Given the description of an element on the screen output the (x, y) to click on. 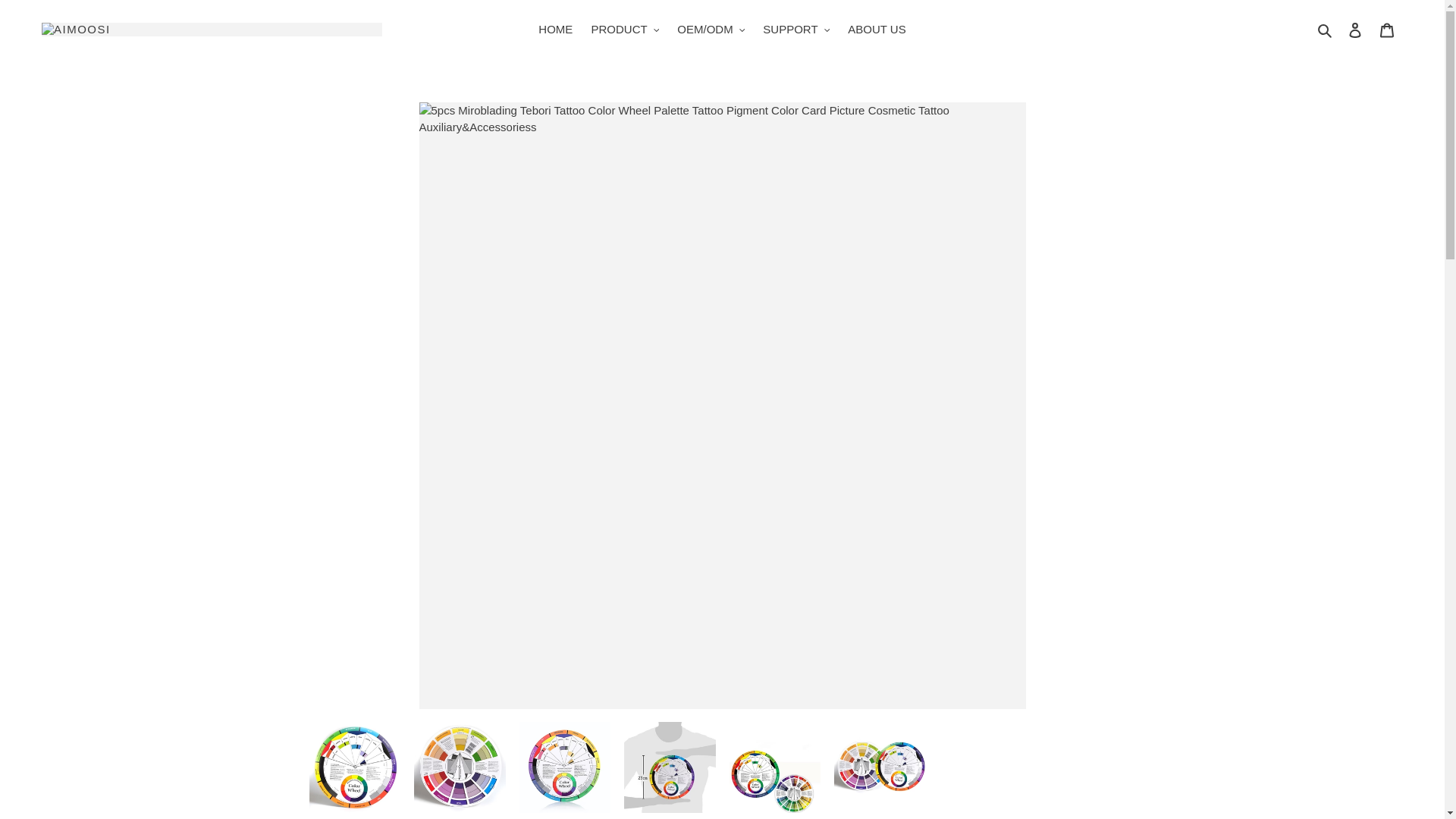
PRODUCT (624, 29)
SUPPORT (796, 29)
Pesquisar (1326, 29)
Carrinho (1387, 29)
ABOUT US (876, 29)
HOME (555, 29)
